Given the description of an element on the screen output the (x, y) to click on. 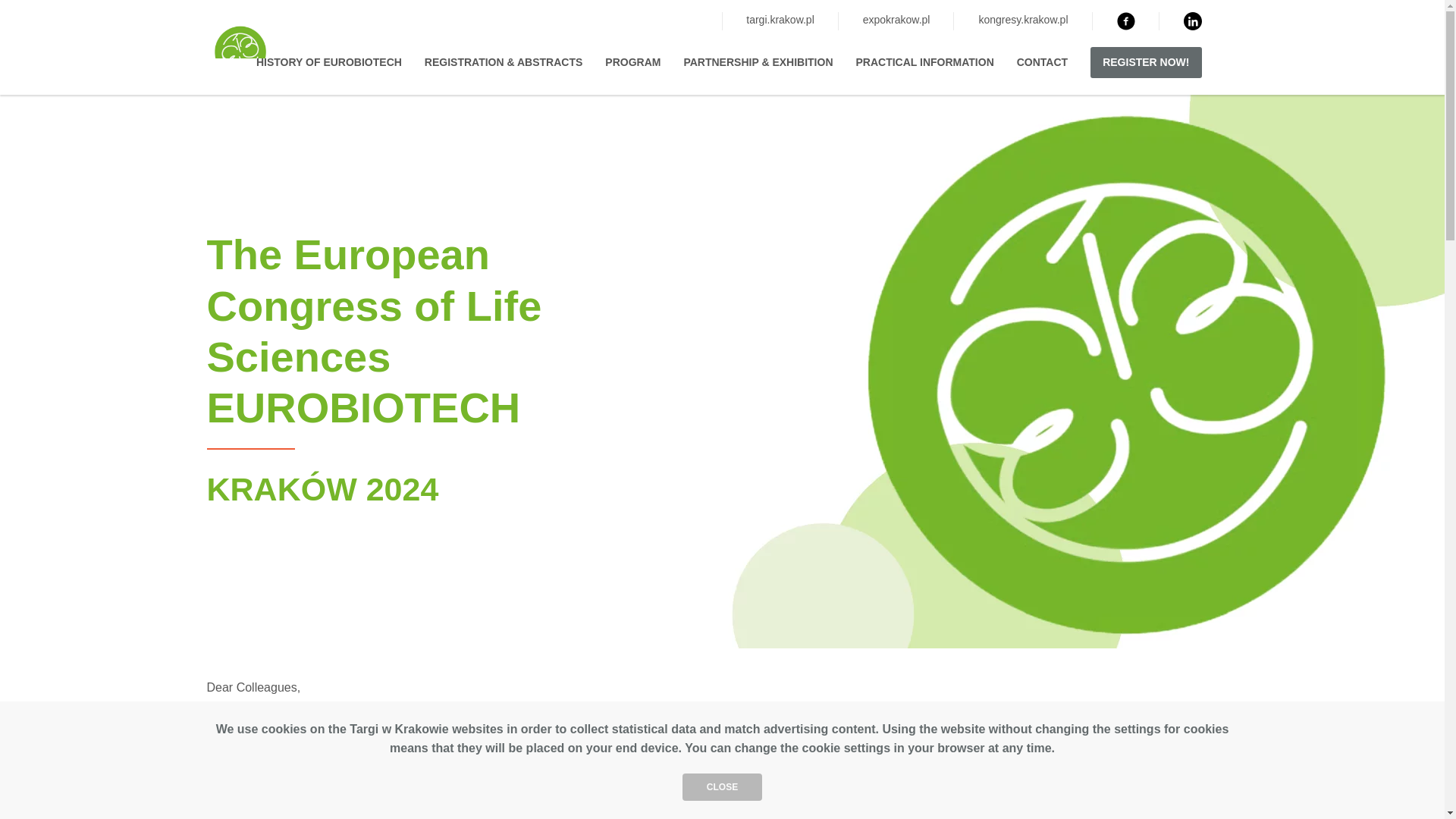
expokrakow.pl (896, 19)
Facebook wydarzenia (1125, 21)
Linkedin wydarzenia (1191, 21)
PRACTICAL INFORMATION (924, 62)
targi.krakow.pl (779, 19)
REGISTER NOW! (1145, 61)
HISTORY OF EUROBIOTECH (328, 62)
kongresy.krakow.pl (1022, 19)
History of EUROBIOTECH (328, 62)
targi.krakow.pl (779, 19)
